Given the description of an element on the screen output the (x, y) to click on. 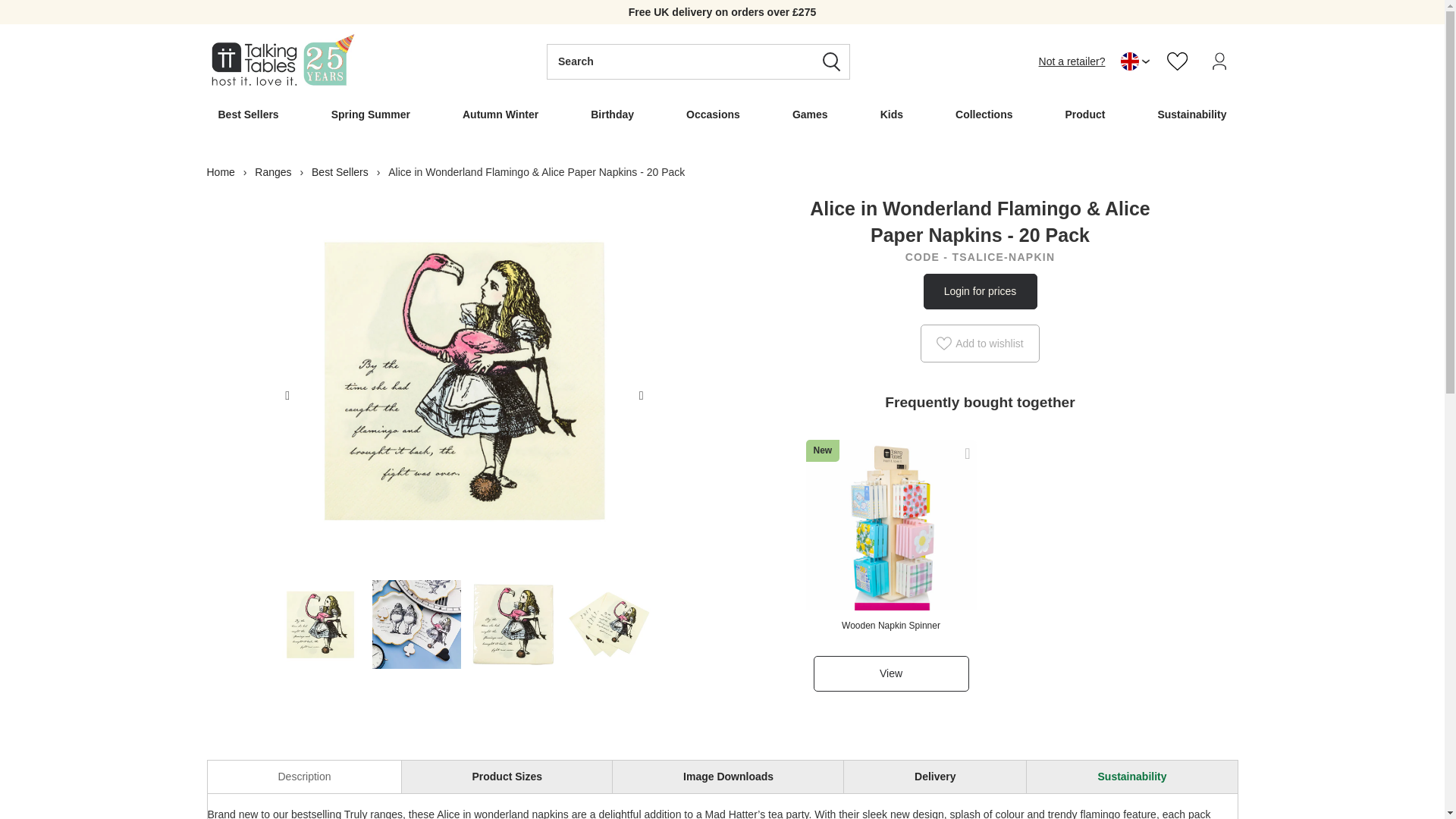
Back to the frontpage (223, 172)
